Given the description of an element on the screen output the (x, y) to click on. 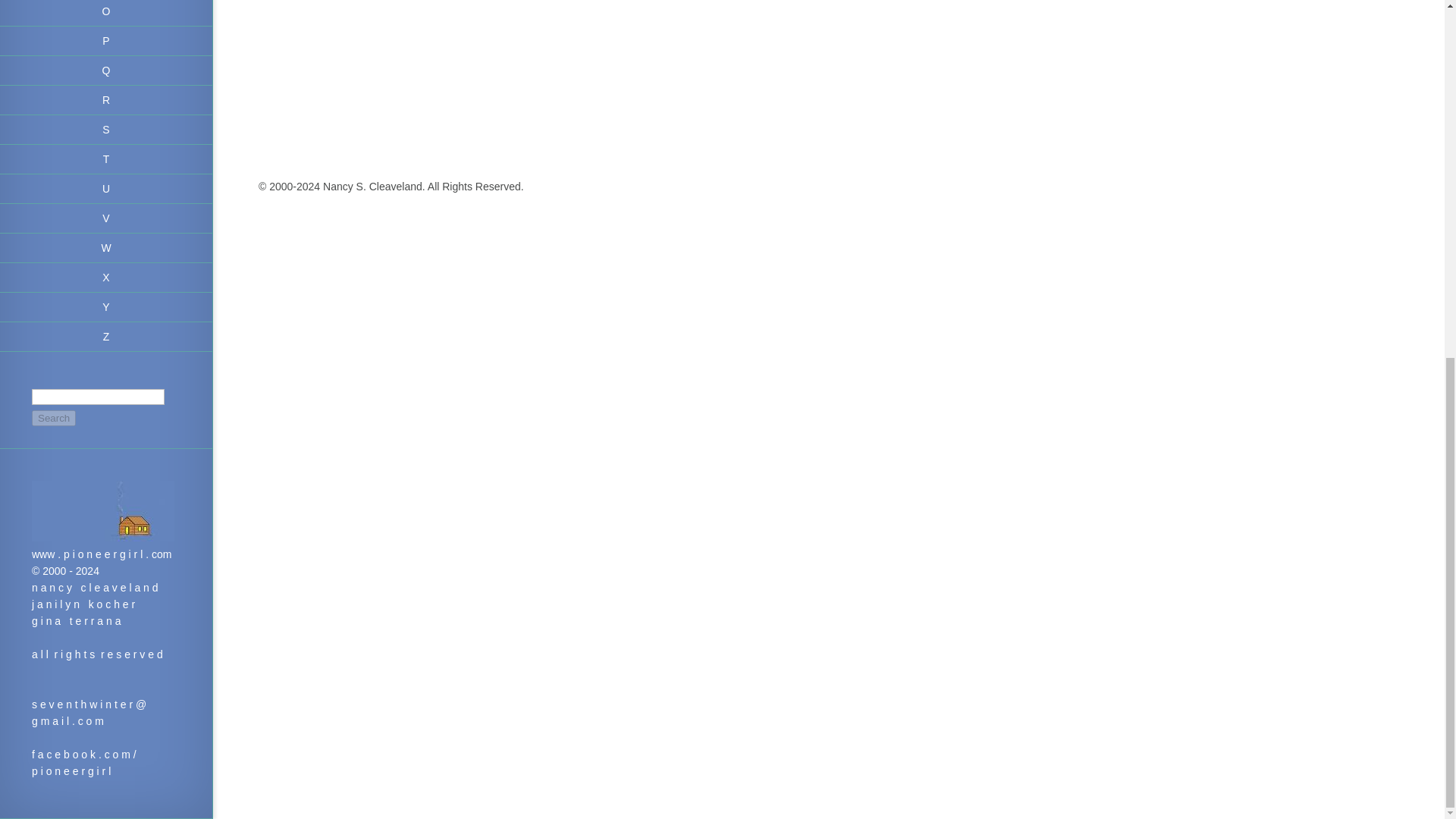
R (106, 100)
V (106, 218)
T (106, 159)
Z (106, 337)
Q (106, 70)
S (106, 129)
Y (106, 307)
W (106, 247)
U (106, 188)
P (106, 41)
Search (53, 417)
X (106, 277)
O (106, 13)
Search (53, 417)
